Given the description of an element on the screen output the (x, y) to click on. 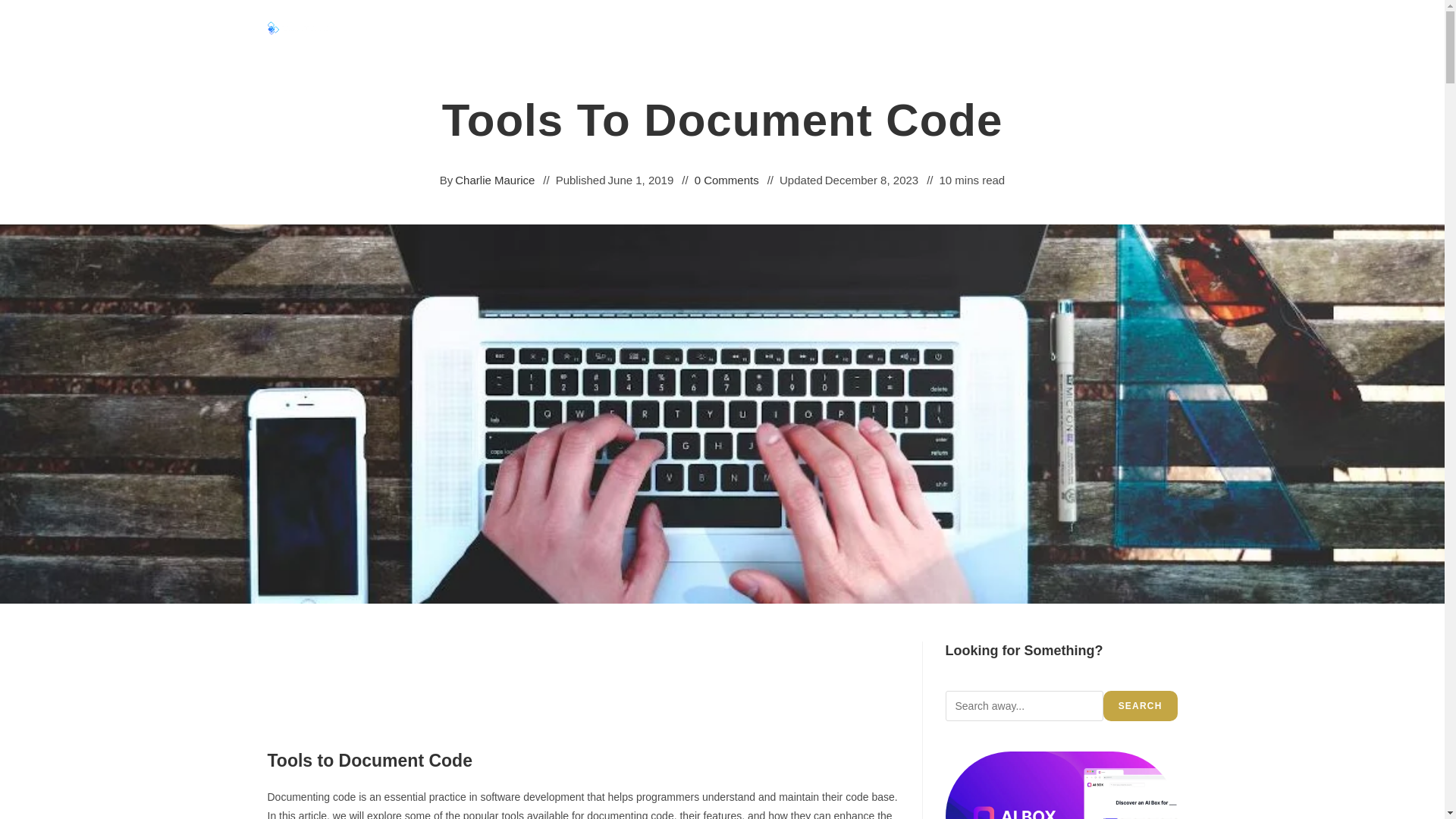
0 Comments (726, 179)
SEARCH (1140, 706)
Charlie Maurice (494, 179)
